Given the description of an element on the screen output the (x, y) to click on. 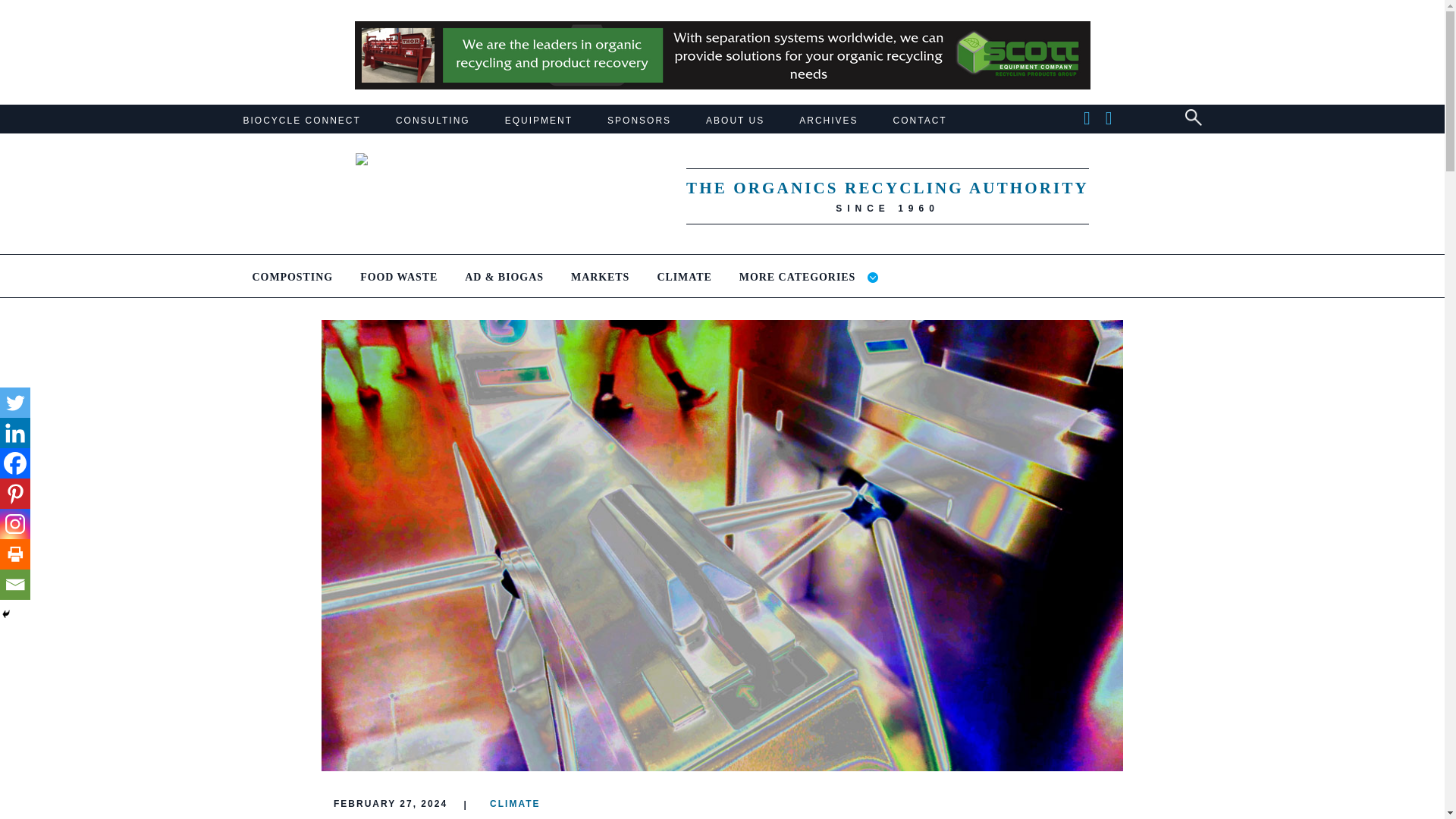
CONSULTING (433, 120)
Facebook (15, 462)
COMPOSTING (293, 283)
ARCHIVES (828, 120)
BIOCYCLE CONNECT (301, 120)
CONTACT (920, 120)
Linkedin (15, 432)
Twitter (15, 402)
ABOUT US (735, 120)
SPONSORS (639, 120)
EQUIPMENT (538, 120)
